Given the description of an element on the screen output the (x, y) to click on. 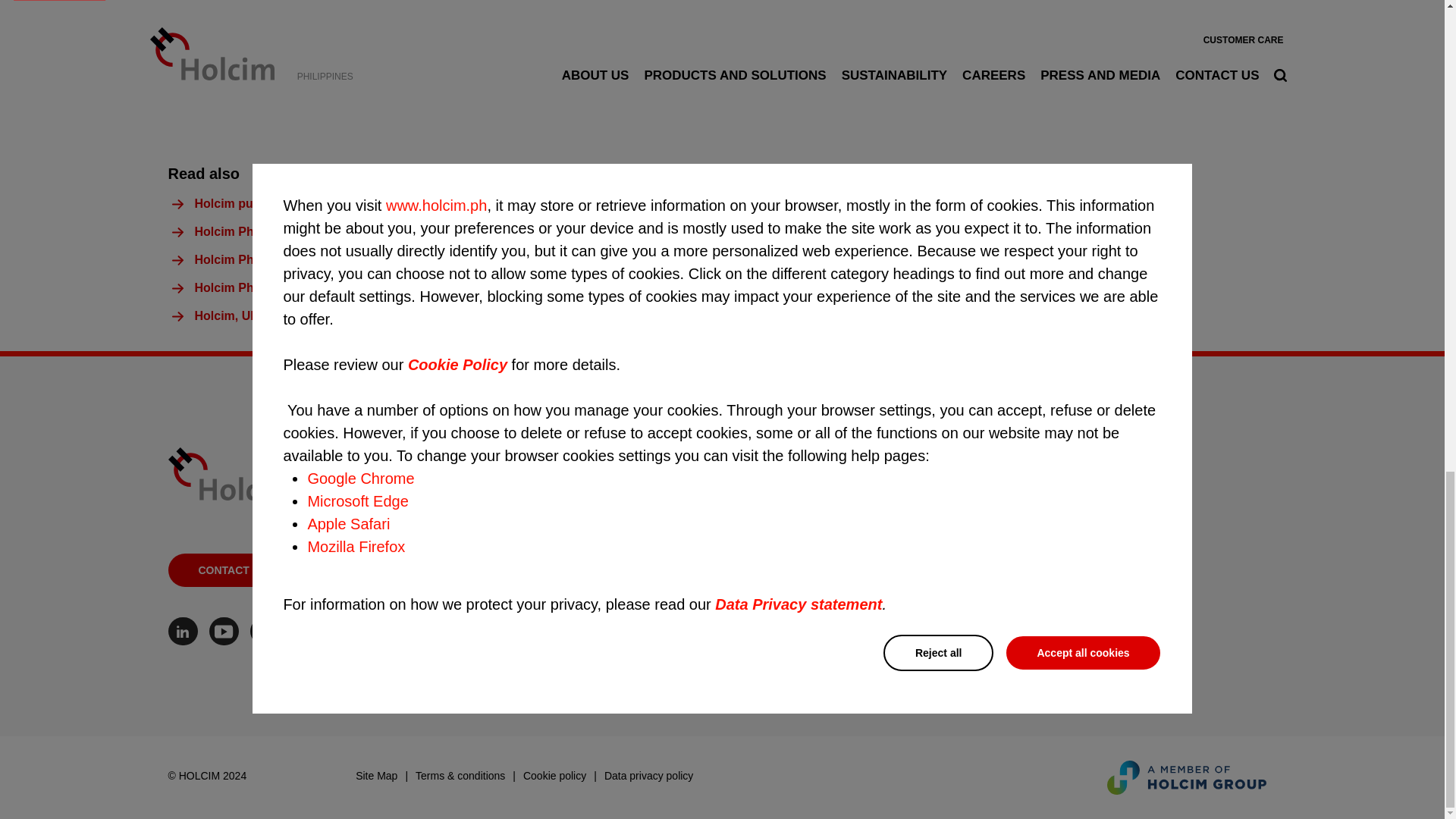
Holcim Philippines launches green cement ECOPlanet (349, 259)
CONTACT US (233, 570)
Data privacy policy (649, 779)
Cookie policy (559, 779)
Site Map (381, 779)
